Given the description of an element on the screen output the (x, y) to click on. 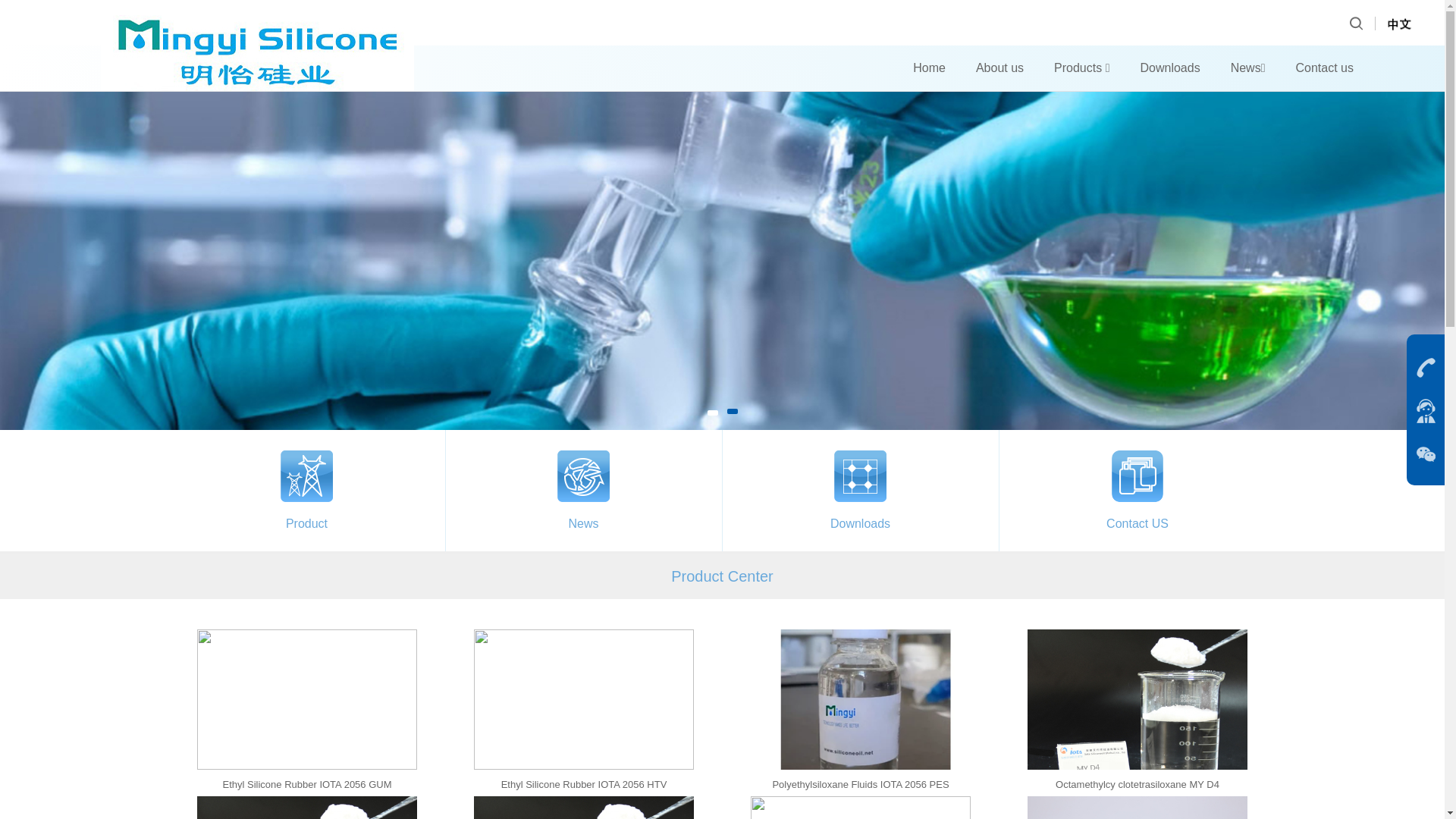
Contact us (1324, 67)
News (1247, 67)
Products (1081, 67)
About us (999, 67)
Downloads (1169, 67)
Home (928, 67)
